Given the description of an element on the screen output the (x, y) to click on. 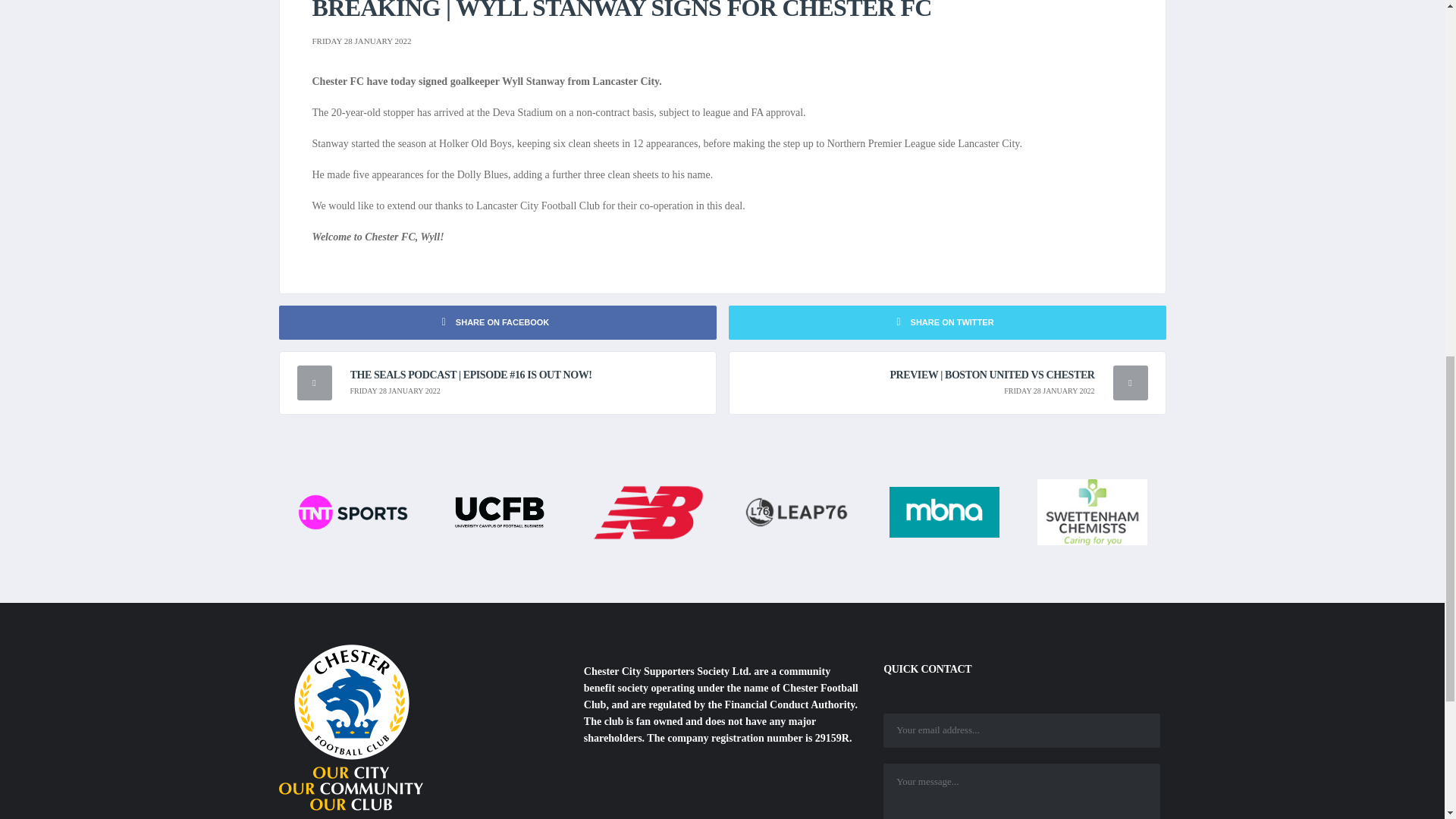
UCFB Logo (500, 511)
